Given the description of an element on the screen output the (x, y) to click on. 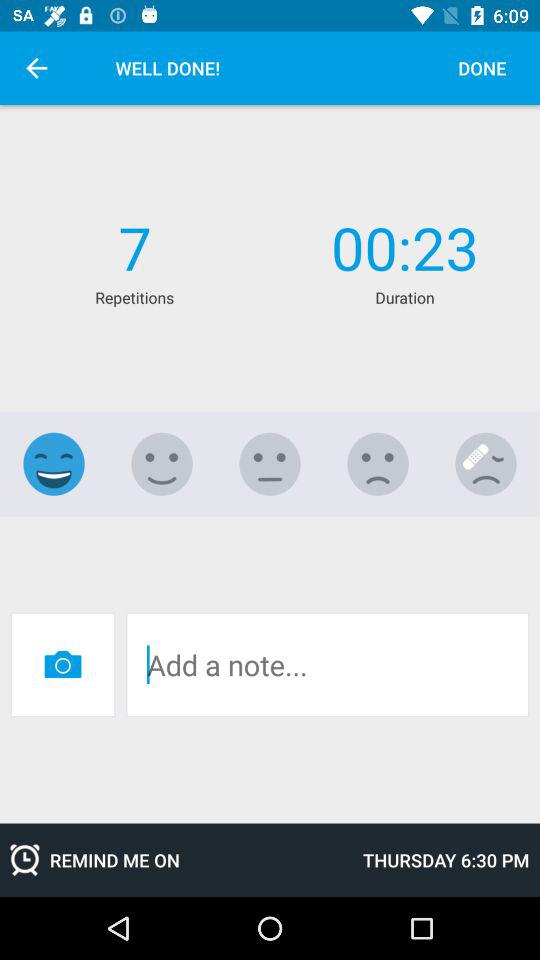
space to add note (327, 664)
